Given the description of an element on the screen output the (x, y) to click on. 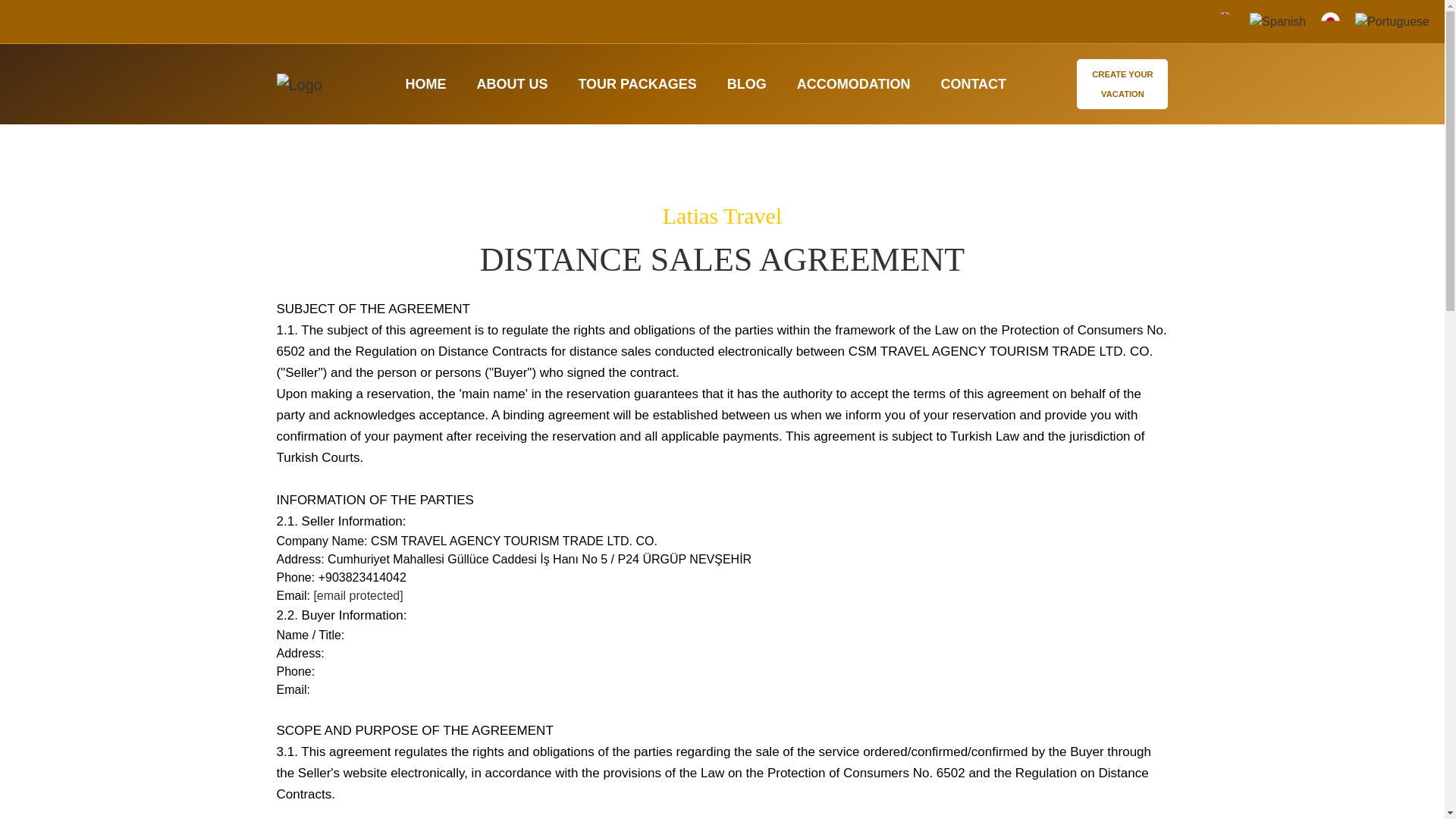
ACCOMODATION (853, 84)
English (1224, 20)
CONTACT (973, 84)
TOUR PACKAGES (636, 84)
Spanish (1277, 20)
Portuguese (1392, 20)
CREATE YOUR VACATION (1122, 83)
HOME (424, 84)
ABOUT US (511, 84)
Turkish (1189, 20)
BLOG (746, 84)
Japanese (1329, 20)
